Given the description of an element on the screen output the (x, y) to click on. 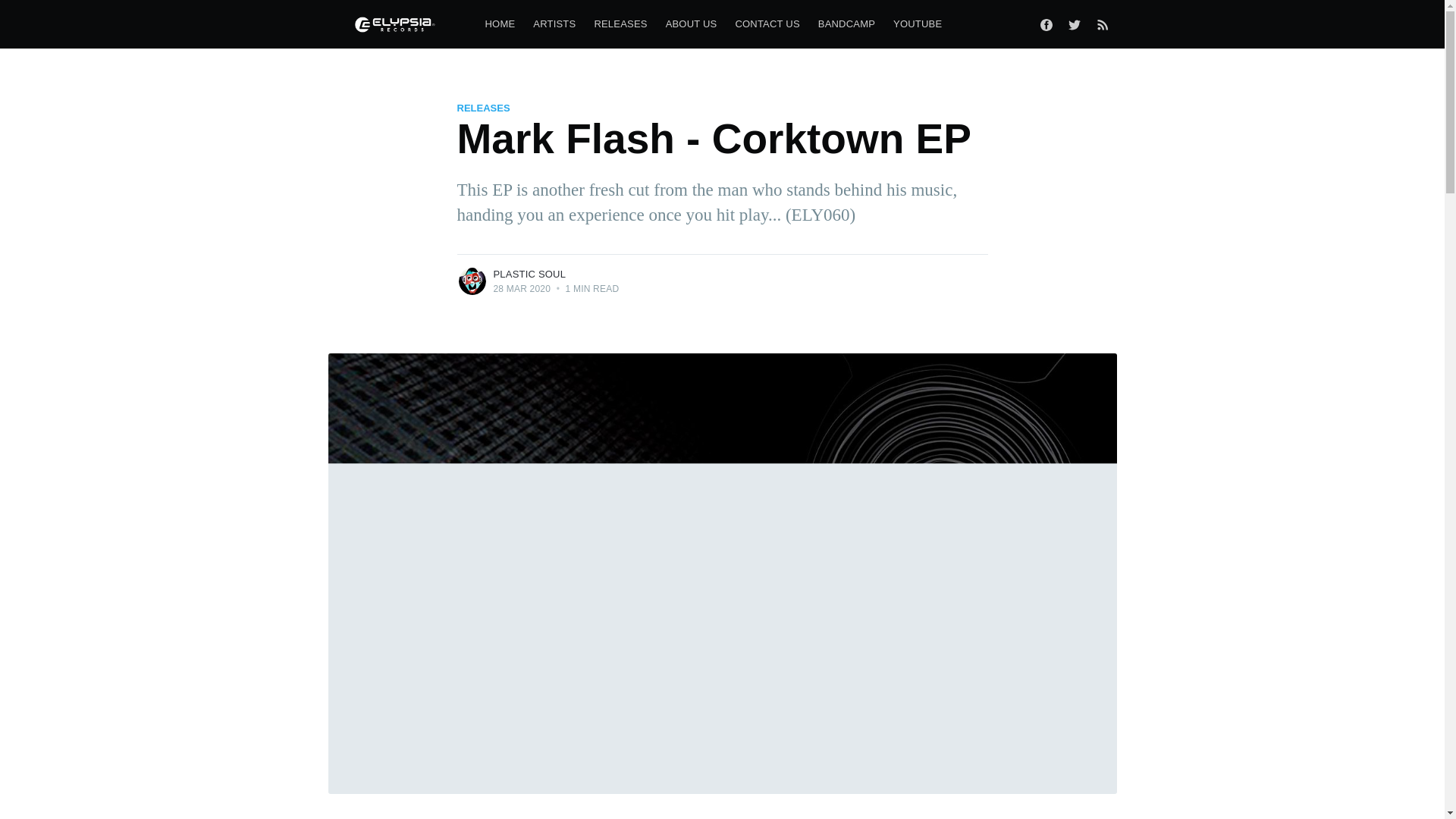
YOUTUBE (916, 24)
BANDCAMP (846, 24)
ABOUT US (691, 24)
PLASTIC SOUL (529, 274)
CONTACT US (766, 24)
RELEASES (483, 108)
HOME (500, 24)
RELEASES (620, 24)
ARTISTS (554, 24)
